Given the description of an element on the screen output the (x, y) to click on. 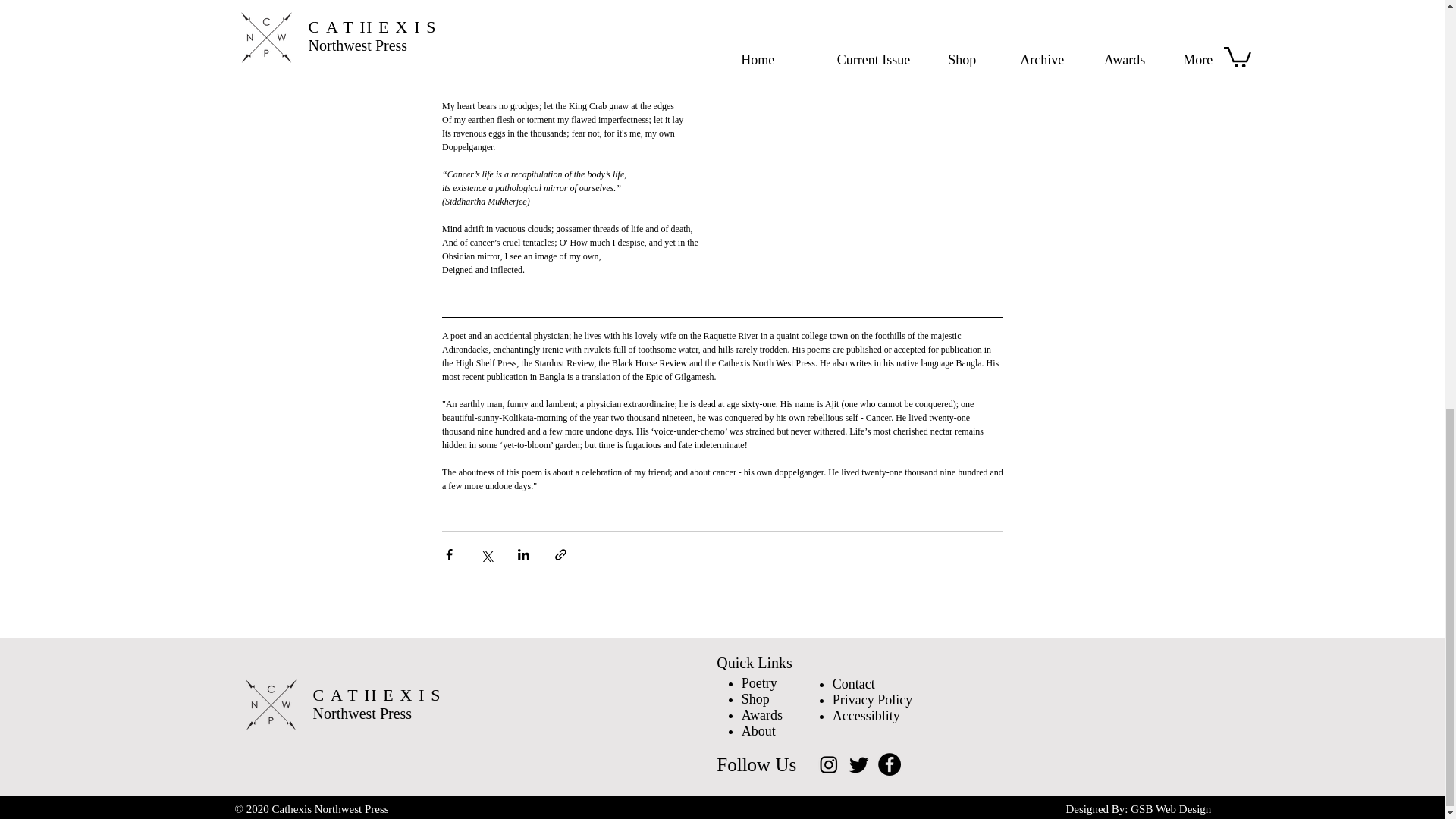
CATHEXIS (379, 694)
Contact (853, 683)
Poetry (759, 683)
Northwest Press (362, 713)
Awards (762, 714)
About (758, 730)
Accessiblity (865, 715)
Privacy Policy (872, 699)
Shop (755, 698)
